Given the description of an element on the screen output the (x, y) to click on. 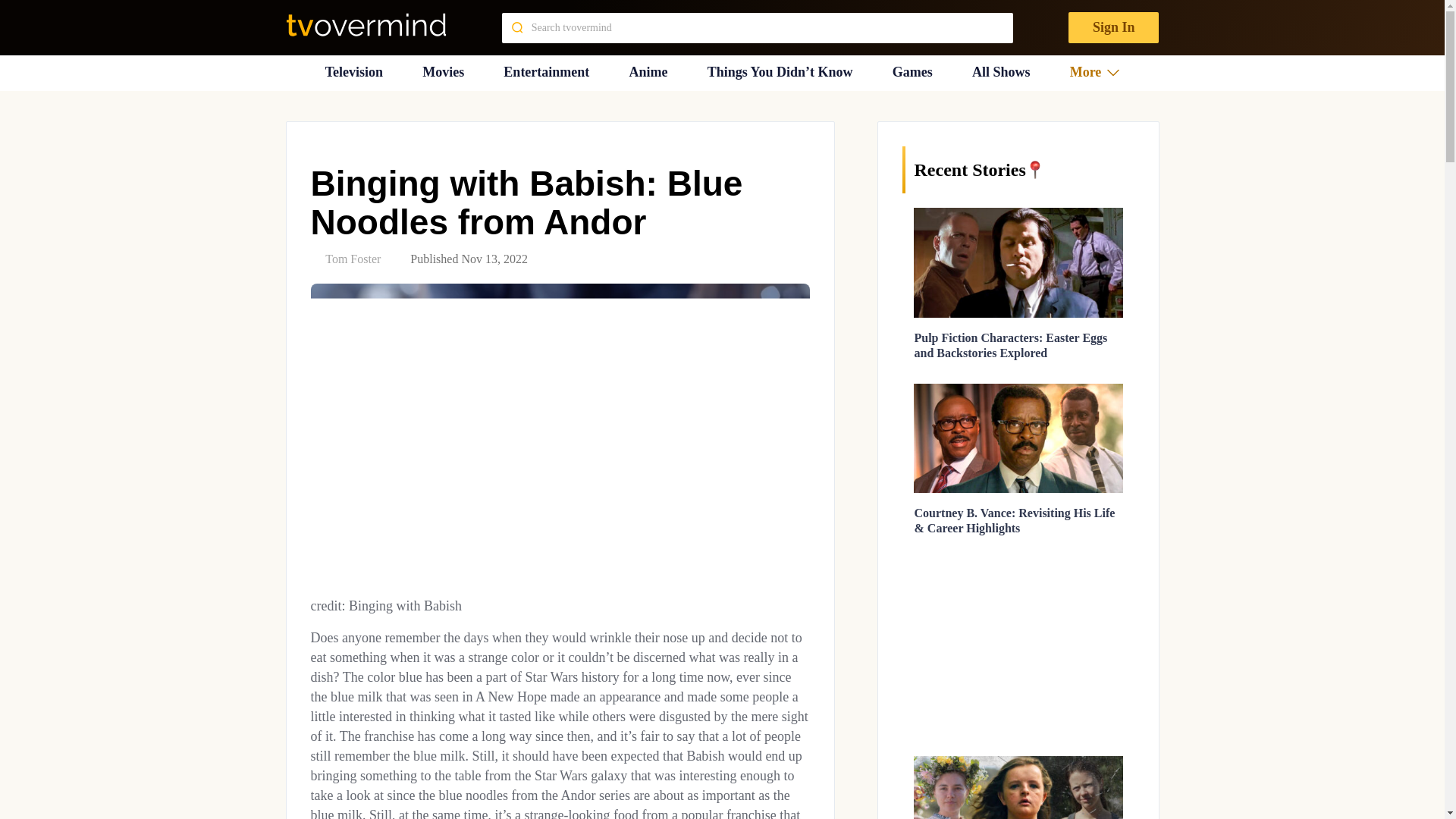
Games (912, 72)
Posts by Tom Foster (352, 258)
Television (353, 72)
TV News (353, 72)
More (1094, 72)
Entertainment (546, 72)
All Shows (1001, 72)
Movies (443, 72)
Anime (648, 72)
